Given the description of an element on the screen output the (x, y) to click on. 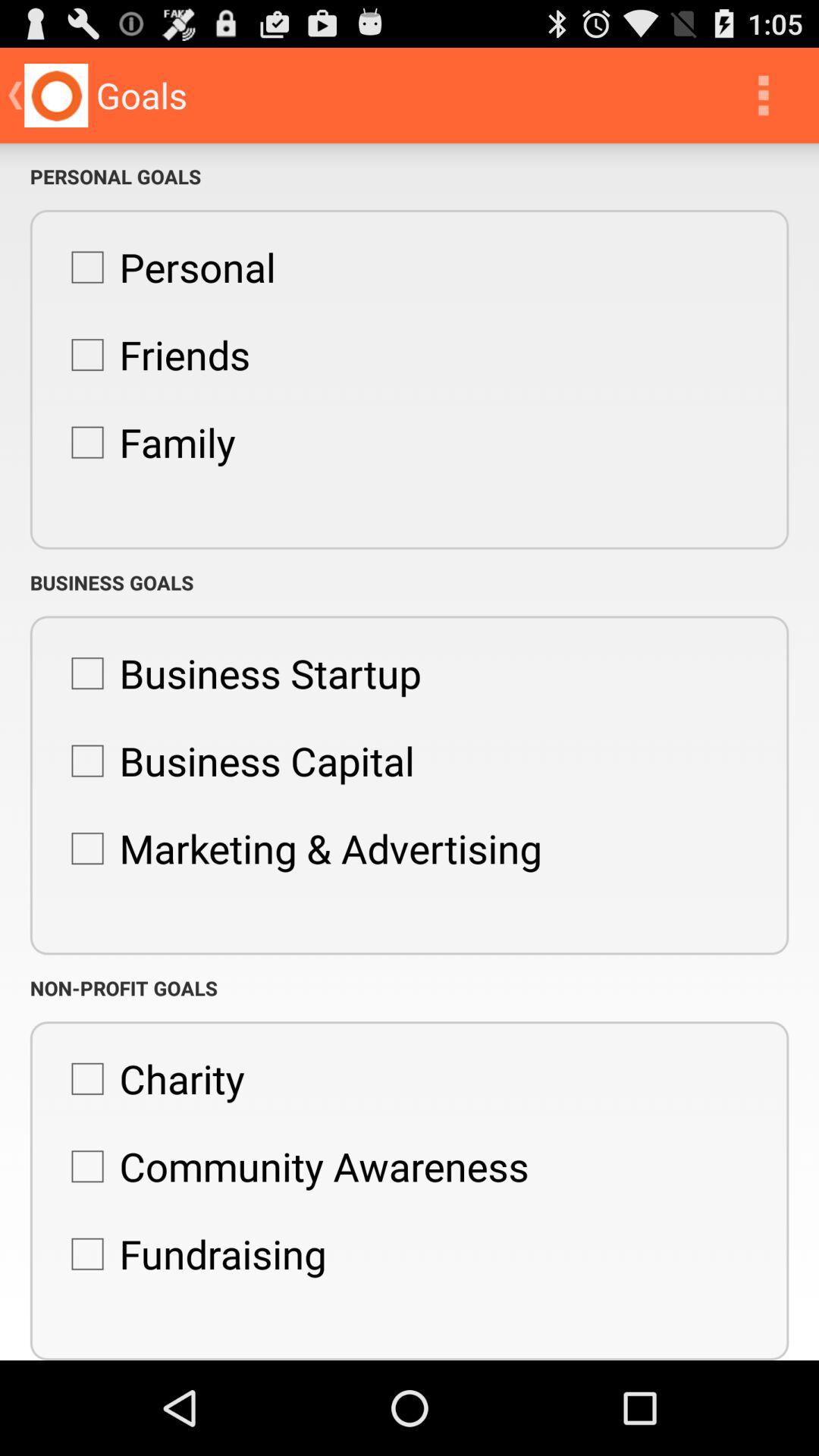
open item above the business goals icon (145, 442)
